Given the description of an element on the screen output the (x, y) to click on. 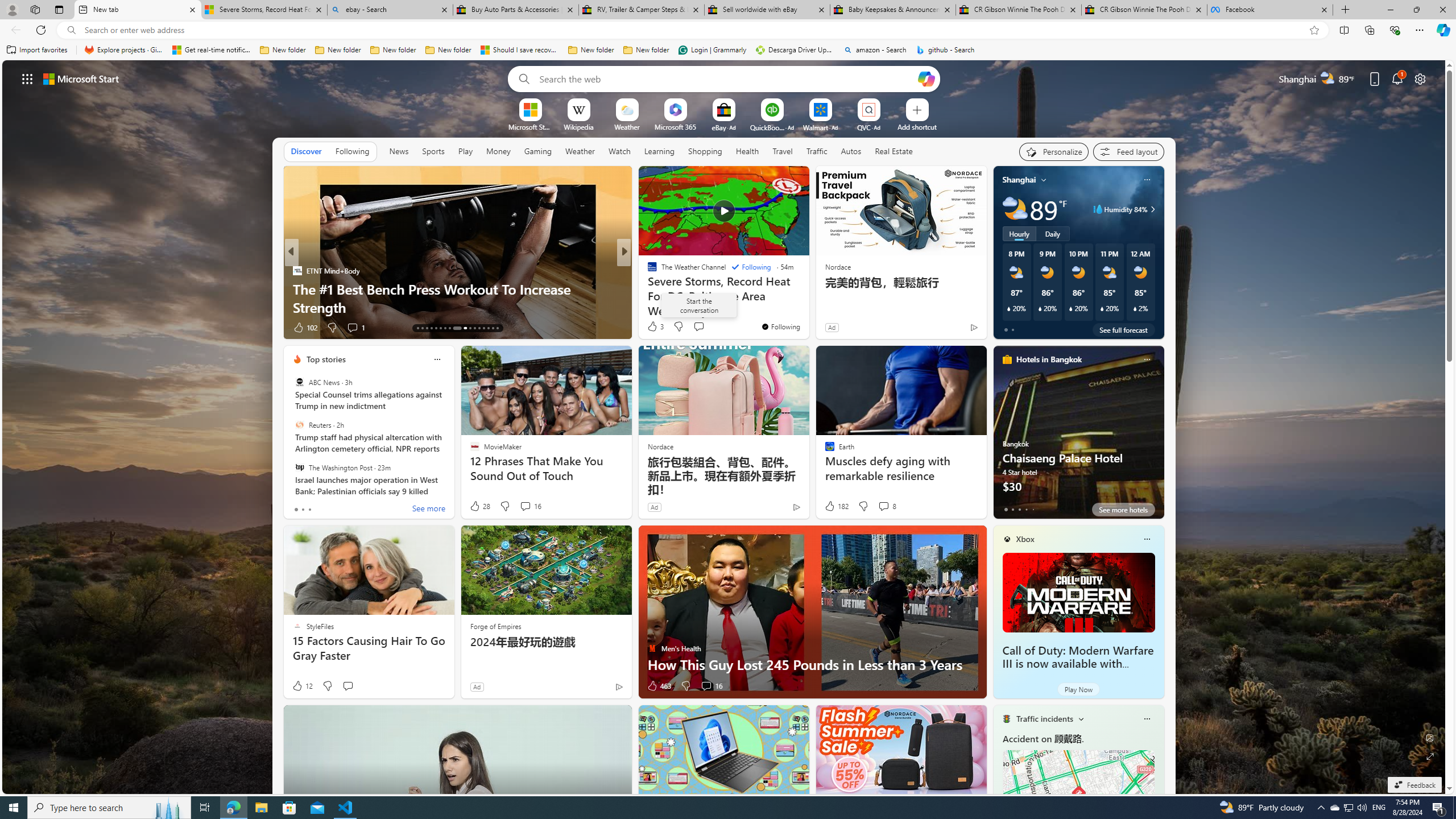
Feed settings (1128, 151)
353 Like (654, 327)
The #1 Best Bench Press Workout To Increase Strength (457, 298)
See full forecast (1123, 329)
Enter your search term (726, 78)
Hotels in Bangkok (1048, 359)
Hide this story (774, 179)
